Given the description of an element on the screen output the (x, y) to click on. 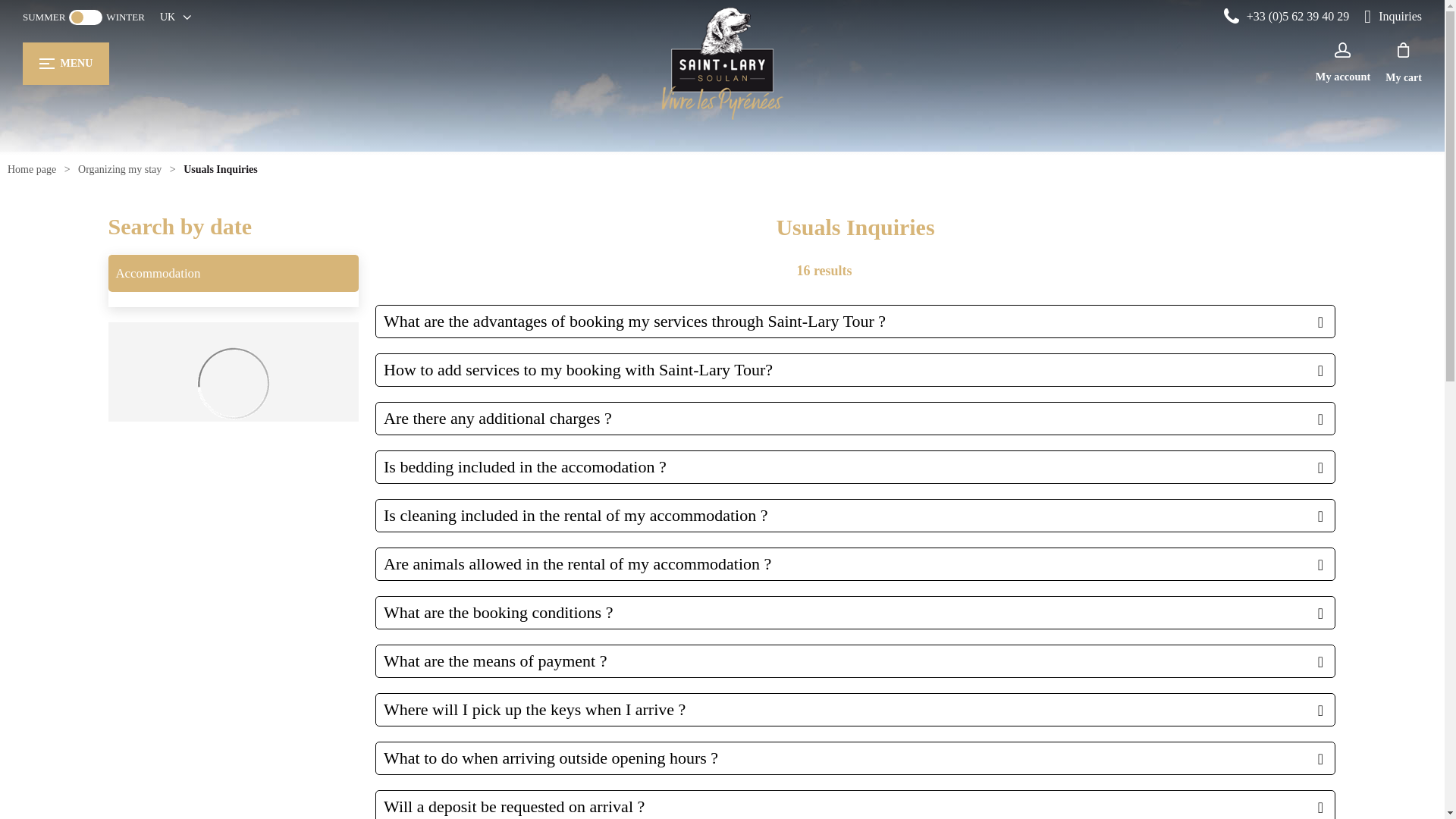
My account (1343, 62)
WINTER (125, 16)
Home page (31, 169)
UK (175, 17)
UK (175, 17)
SUMMER (44, 16)
Inquiries (1393, 17)
Inquiries (1393, 17)
Winter (125, 16)
Summer (44, 16)
Organizing my stay (119, 169)
